Given the description of an element on the screen output the (x, y) to click on. 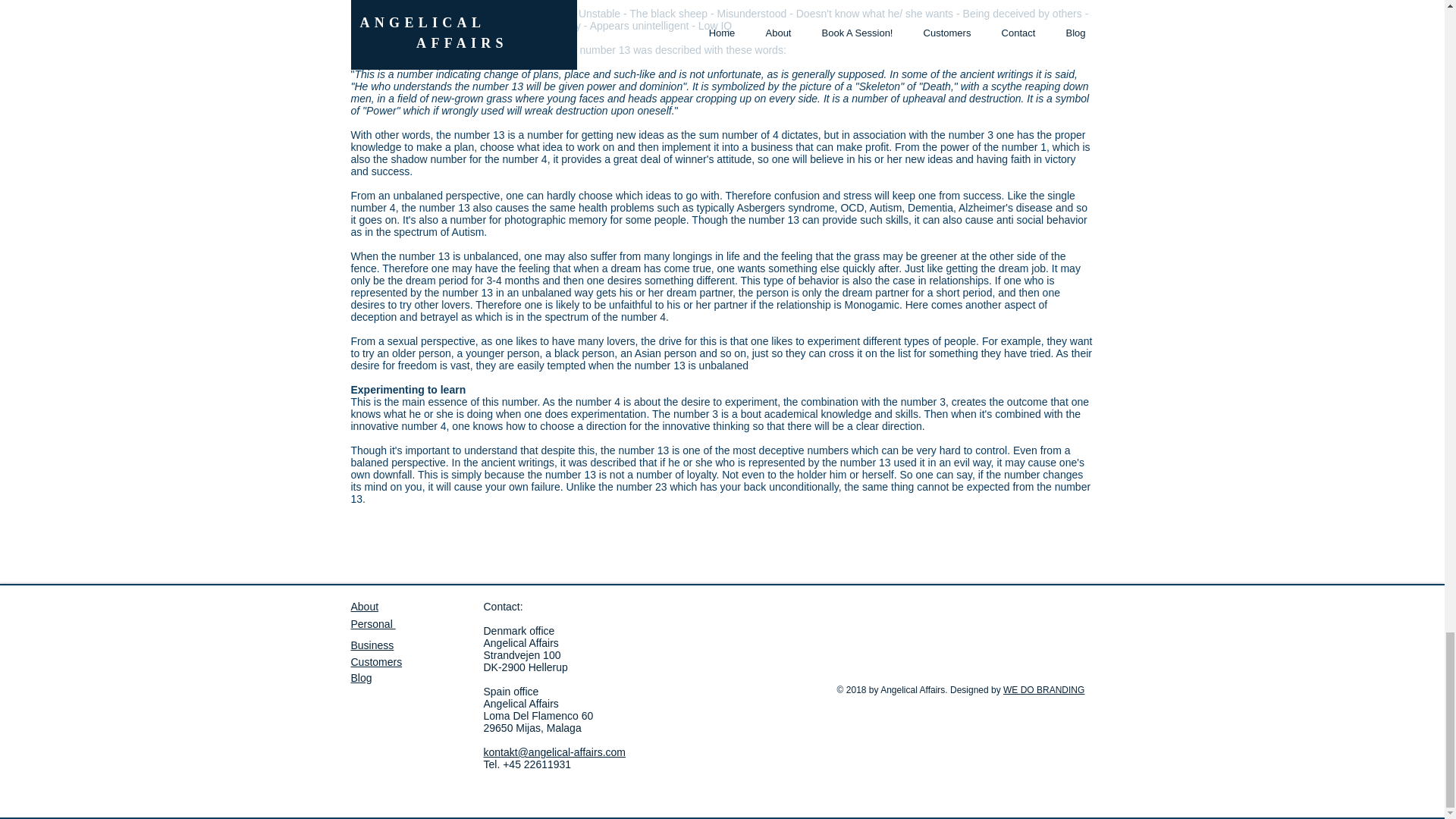
WE DO BRANDING (1043, 689)
About (364, 606)
Blog (360, 677)
Personal  (372, 623)
Business (521, 636)
Contact: (371, 645)
Customers (502, 606)
